Given the description of an element on the screen output the (x, y) to click on. 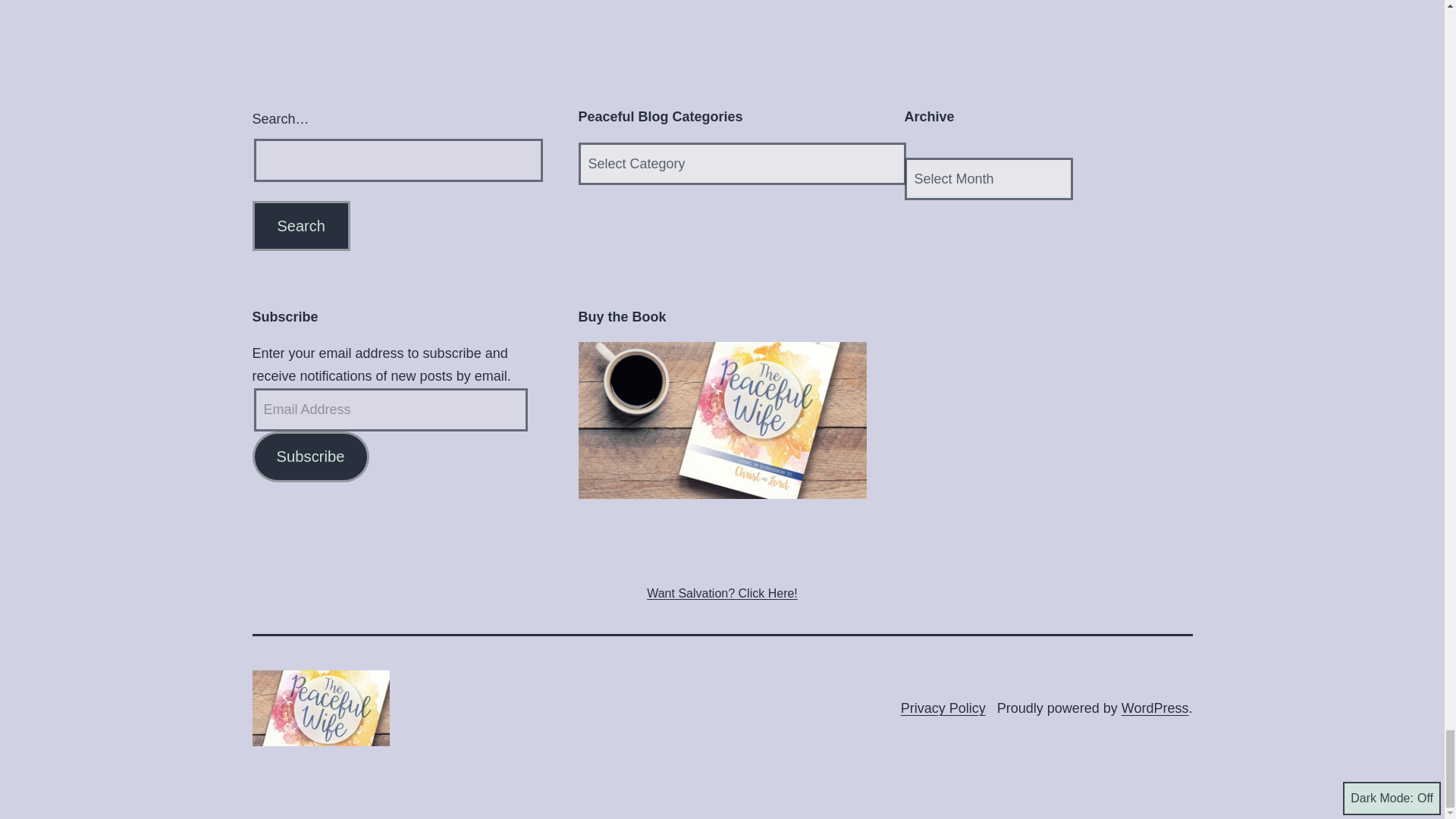
Subscribe (309, 456)
Search (300, 225)
Search (300, 225)
Search (300, 225)
WordPress (1155, 708)
Privacy Policy (943, 708)
Want Salvation? Click Here! (722, 592)
